Given the description of an element on the screen output the (x, y) to click on. 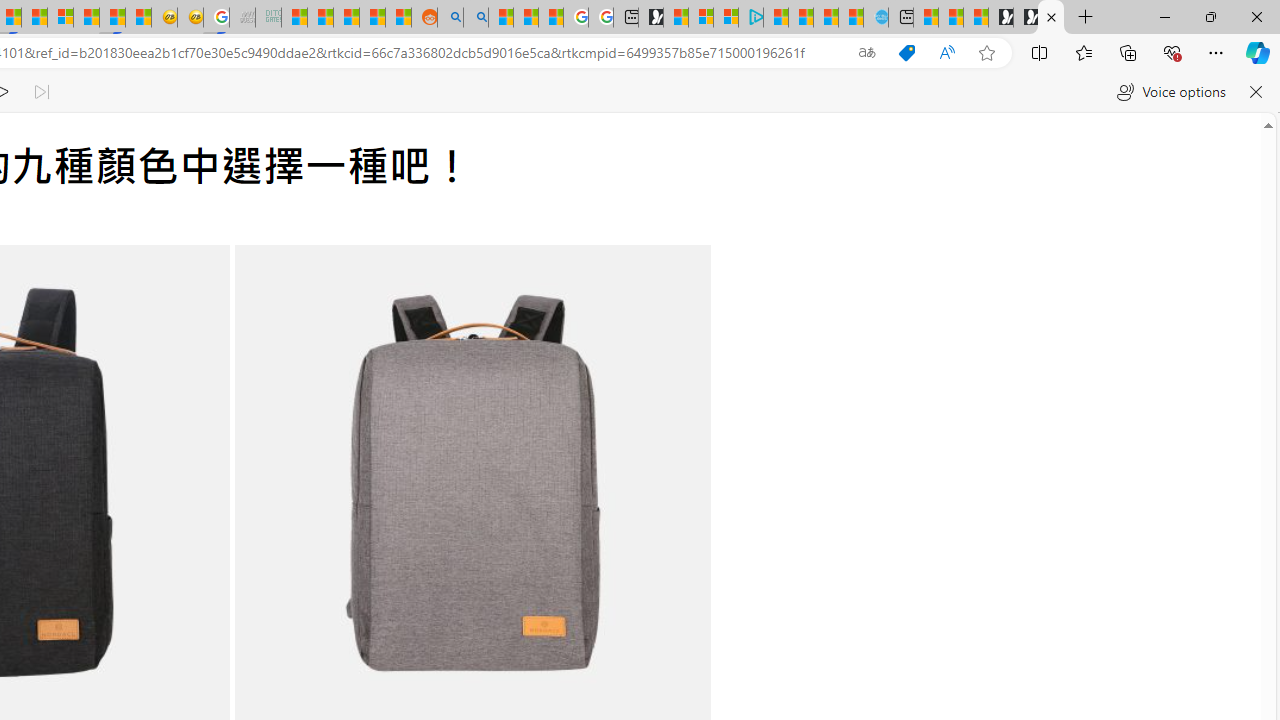
Student Loan Update: Forgiveness Program Ends This Month (372, 17)
Show translate options (867, 53)
This site has coupons! Shopping in Microsoft Edge (906, 53)
